Given the description of an element on the screen output the (x, y) to click on. 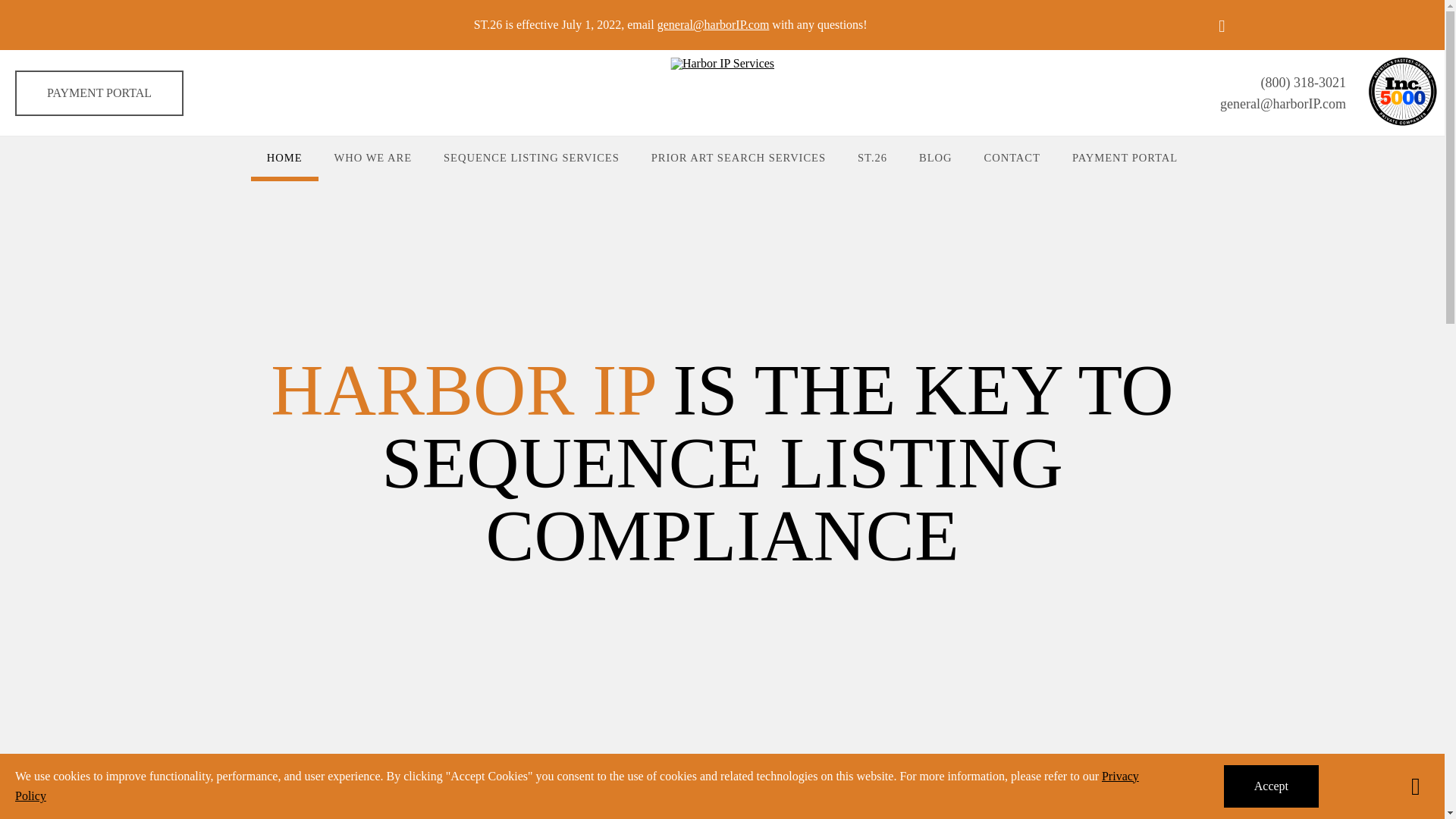
Accept (1271, 785)
Privacy Policy (576, 785)
WHO WE ARE (373, 158)
SEQUENCE LISTING SERVICES (531, 158)
BLOG (935, 158)
CONTACT (1012, 158)
PAYMENT PORTAL (98, 93)
ST.26 (871, 158)
HOME (284, 158)
PRIOR ART SEARCH SERVICES (737, 158)
PAYMENT PORTAL (1125, 158)
